Given the description of an element on the screen output the (x, y) to click on. 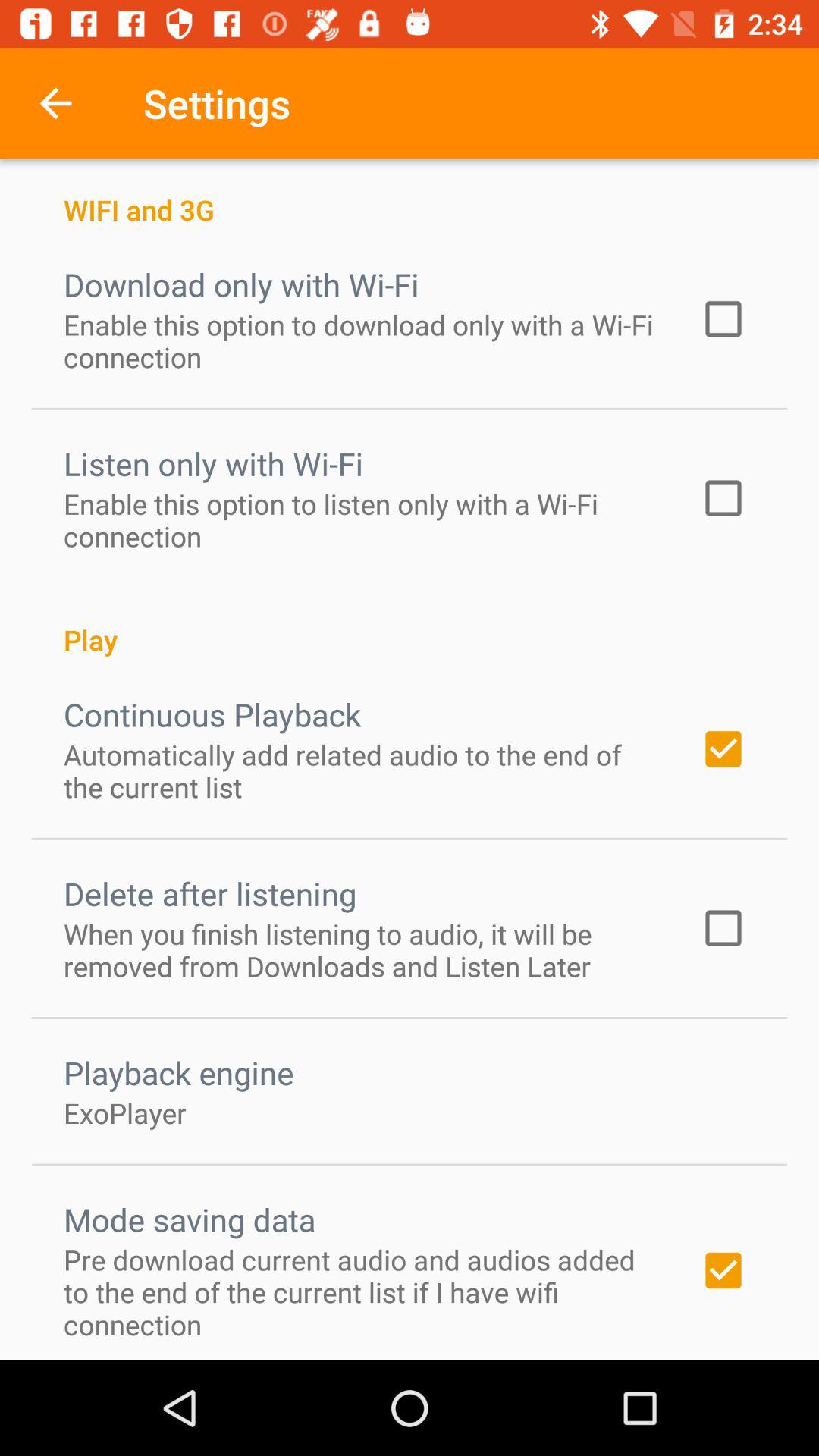
scroll to the pre download current (361, 1292)
